Given the description of an element on the screen output the (x, y) to click on. 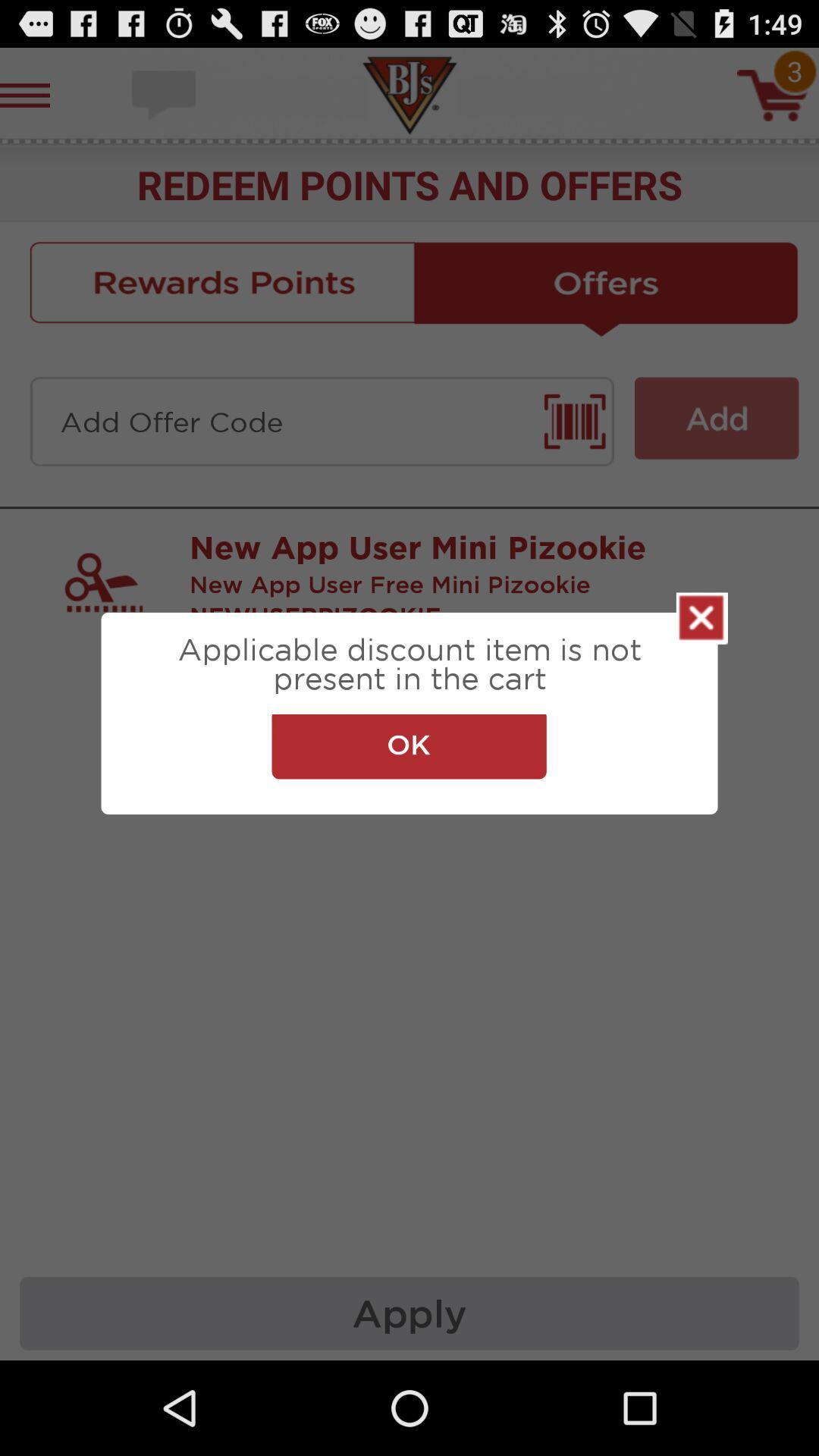
launch the ok item (408, 746)
